Given the description of an element on the screen output the (x, y) to click on. 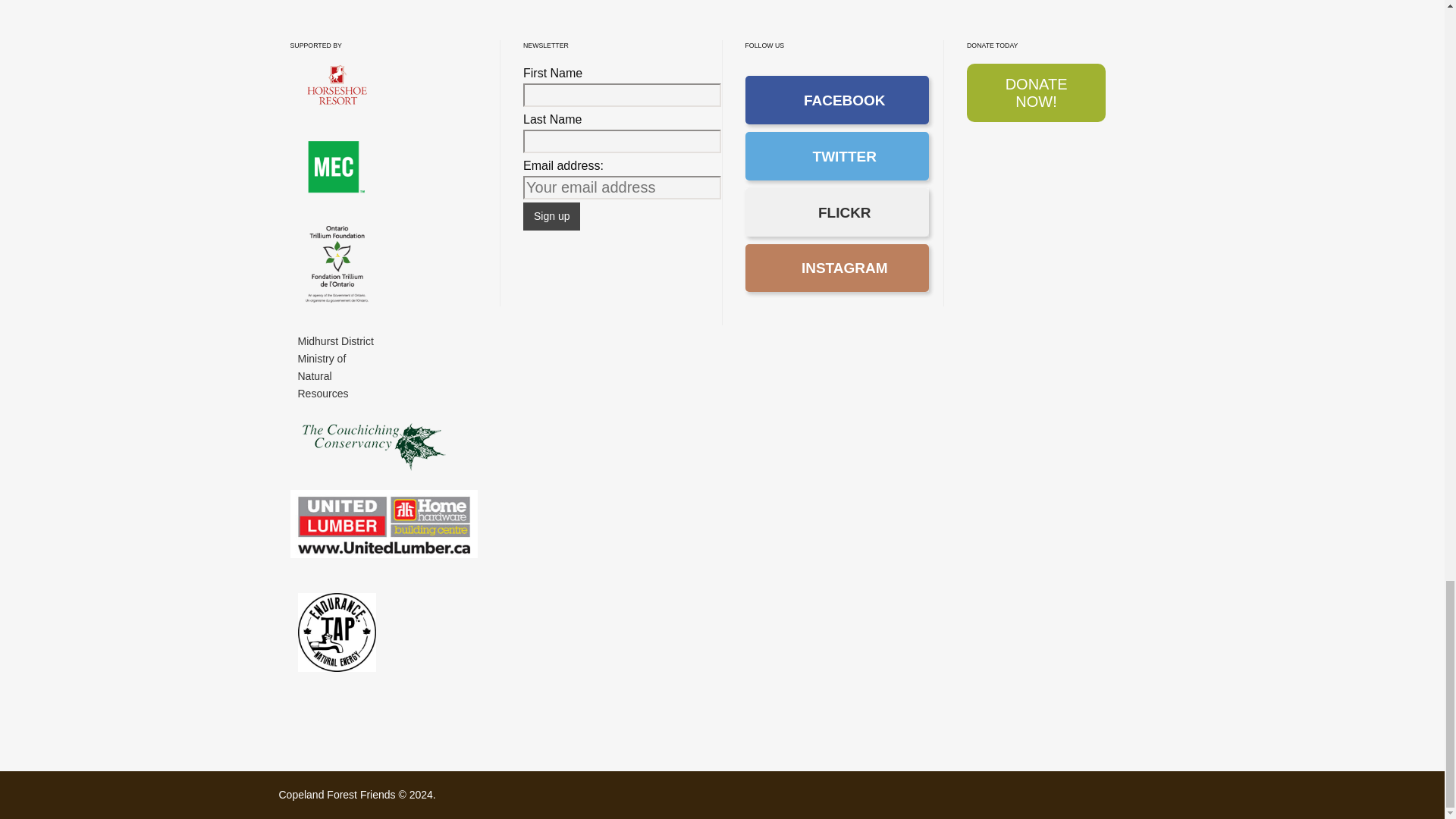
Instagram (836, 268)
Sign up (550, 216)
Facebook (836, 100)
Flickr (836, 212)
Twitter (836, 155)
